Given the description of an element on the screen output the (x, y) to click on. 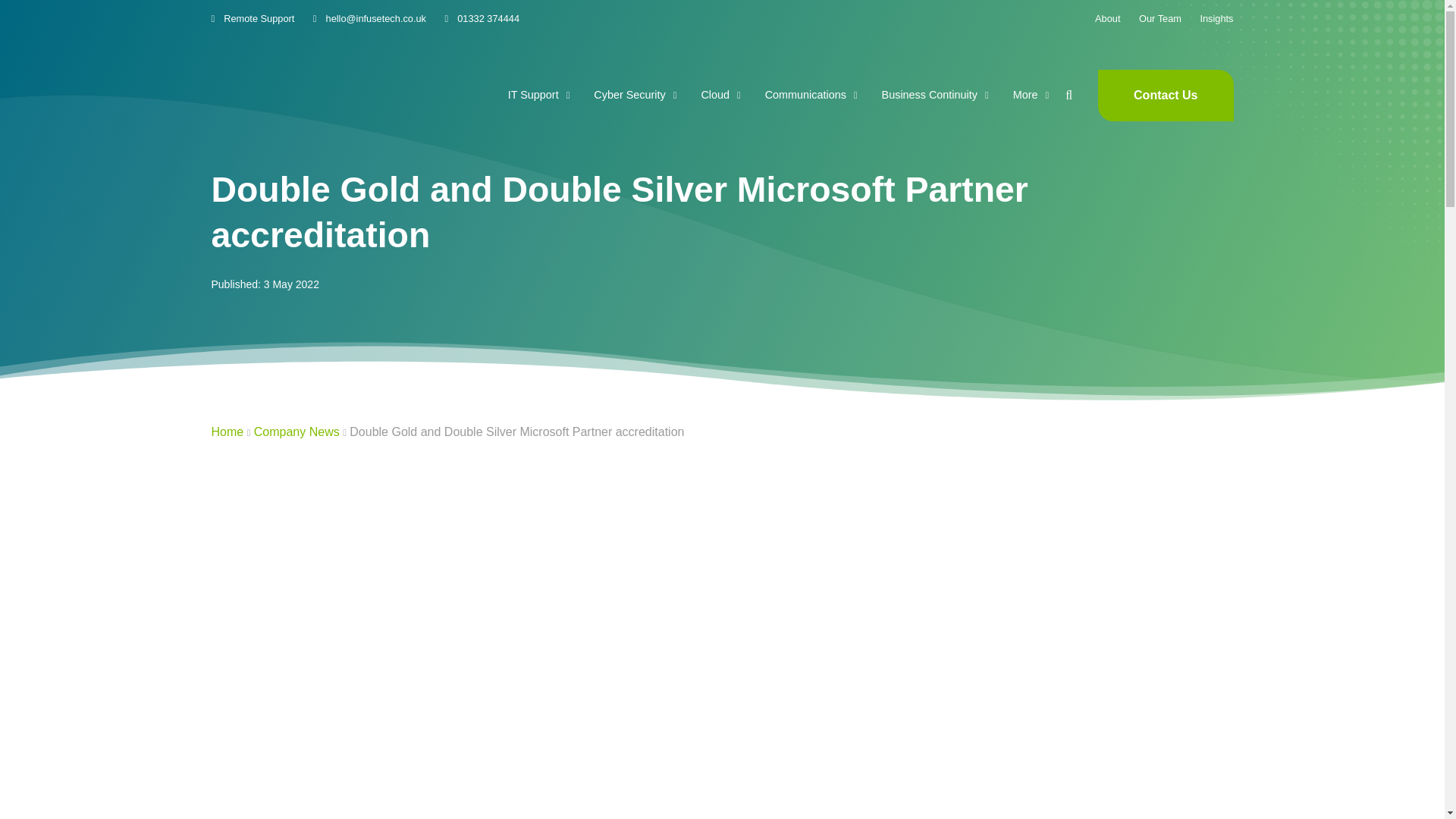
01332 374444 (481, 18)
Remote Support (252, 18)
Cloud (719, 95)
IT Support (539, 95)
Insights (1216, 18)
Cyber Security (635, 95)
About (1106, 18)
Communications (810, 95)
Cloud (719, 95)
IT Support (539, 95)
